Given the description of an element on the screen output the (x, y) to click on. 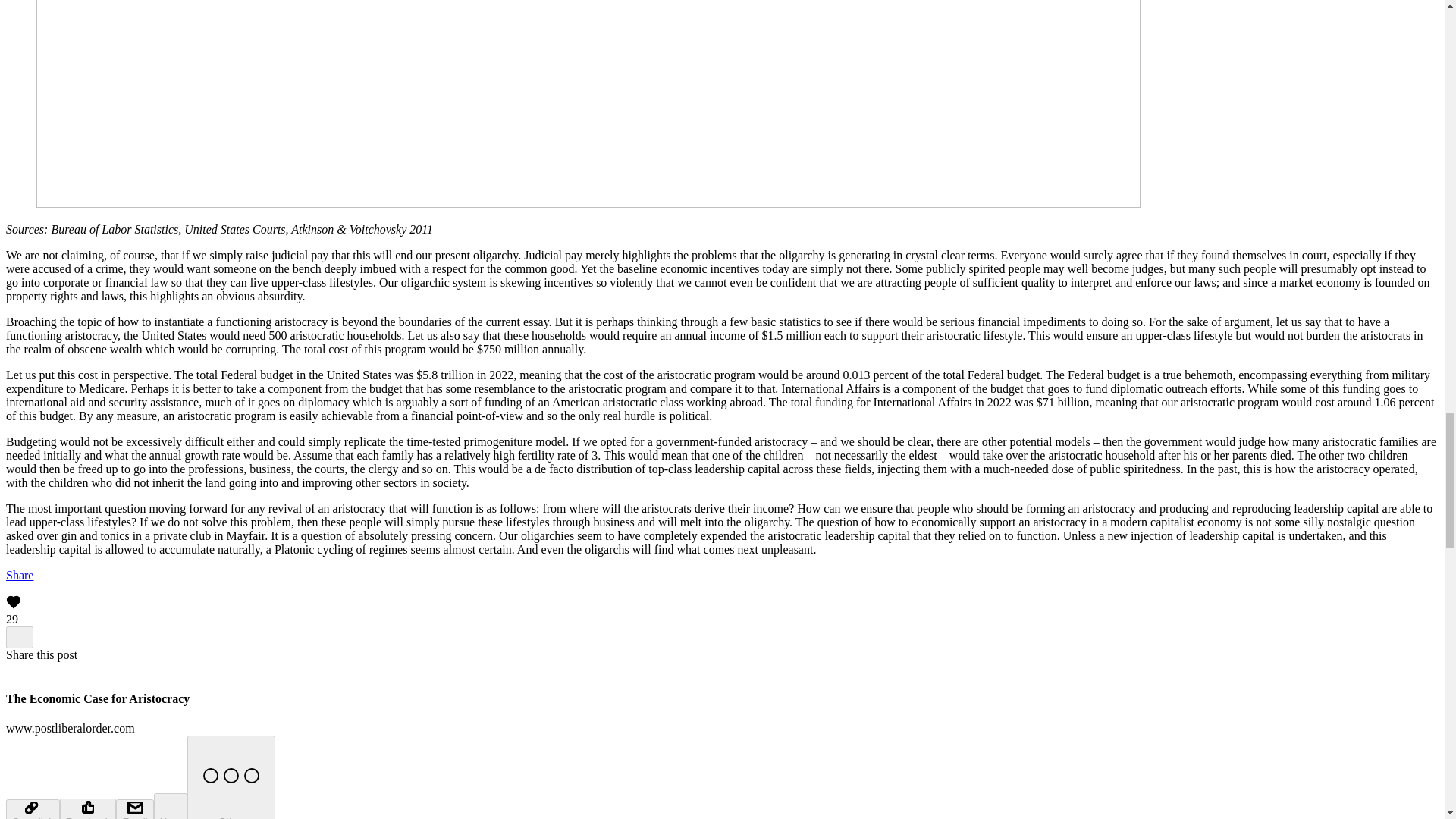
Share (19, 574)
Note (170, 806)
Facebook (87, 808)
Other (231, 777)
Copy link (32, 809)
Email (134, 809)
